Given the description of an element on the screen output the (x, y) to click on. 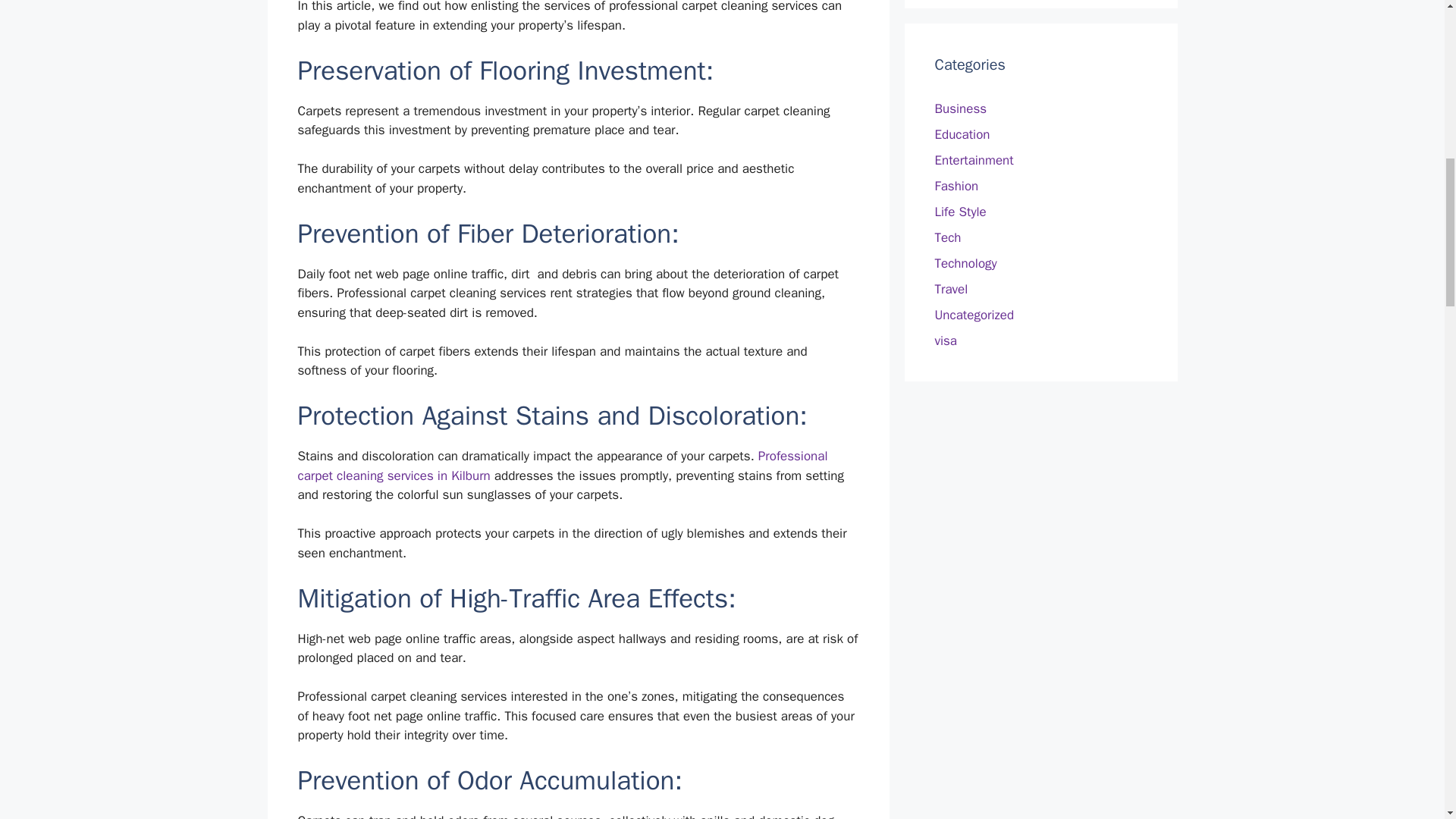
Education (962, 134)
Technology (964, 263)
Business (960, 108)
Fashion (956, 186)
visa (945, 340)
Life Style (959, 211)
Entertainment (973, 160)
Tech (947, 237)
Travel (951, 289)
Uncategorized (973, 314)
Professional carpet cleaning services in Kilburn (562, 465)
